Given the description of an element on the screen output the (x, y) to click on. 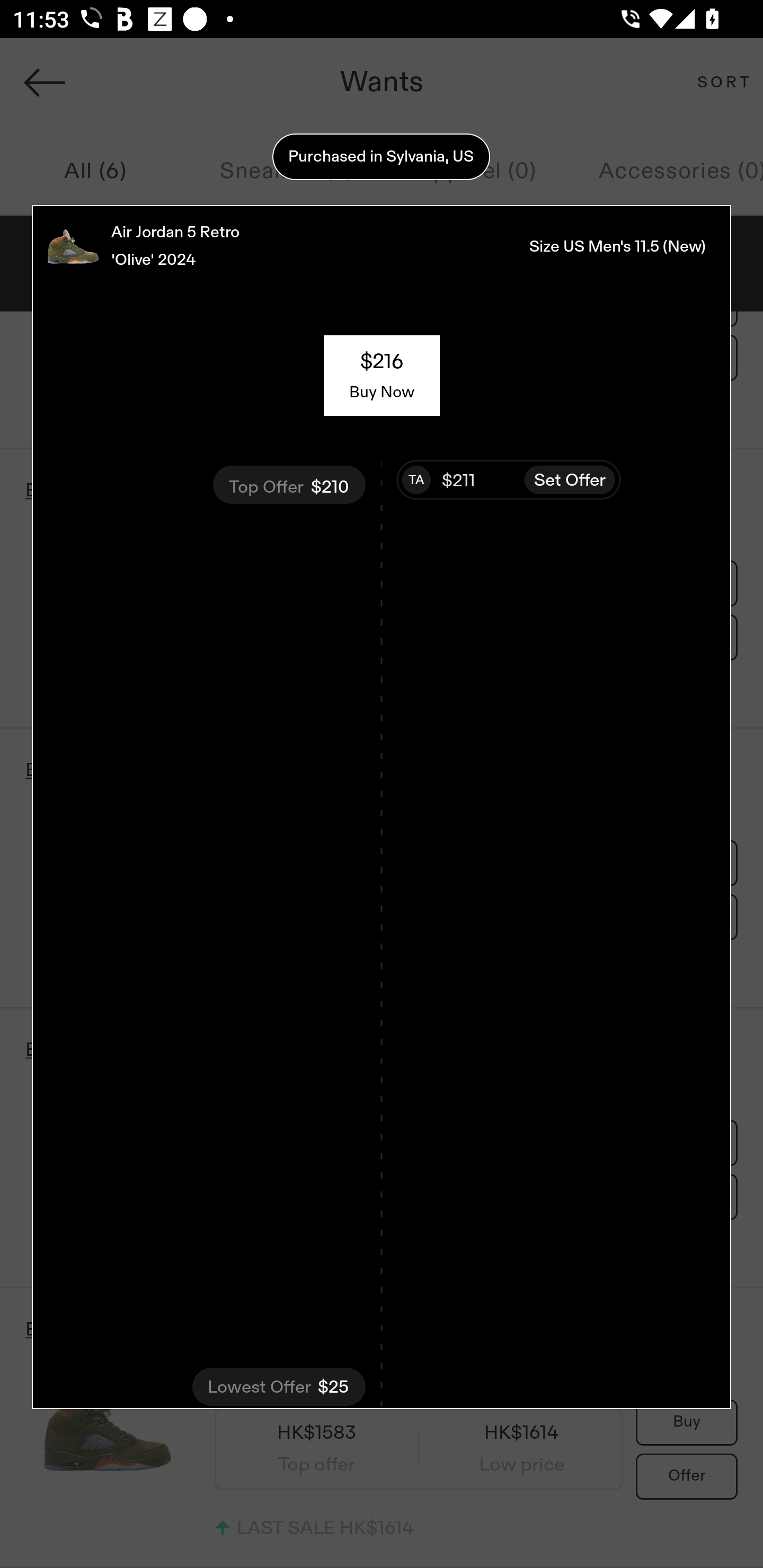
$216
Buy Now (381, 375)
